Given the description of an element on the screen output the (x, y) to click on. 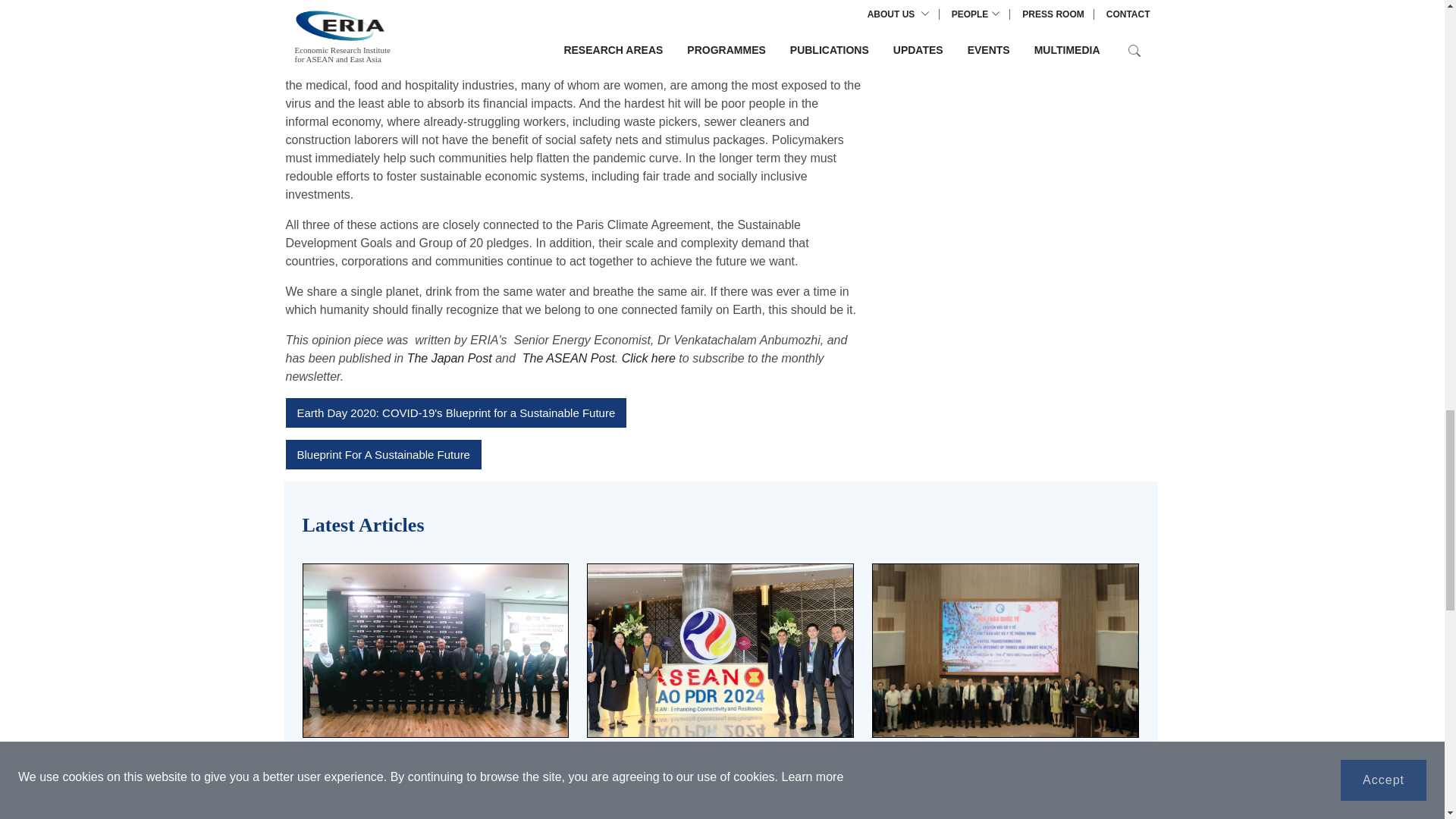
Read this oped in The ASEAN Post (382, 454)
Read this oped in The Japan Times (455, 412)
Subscribe to ERIA FRAMES (648, 358)
Read this article in The Japan Post (449, 358)
Read this oped in The ASEAN Post (568, 358)
